Given the description of an element on the screen output the (x, y) to click on. 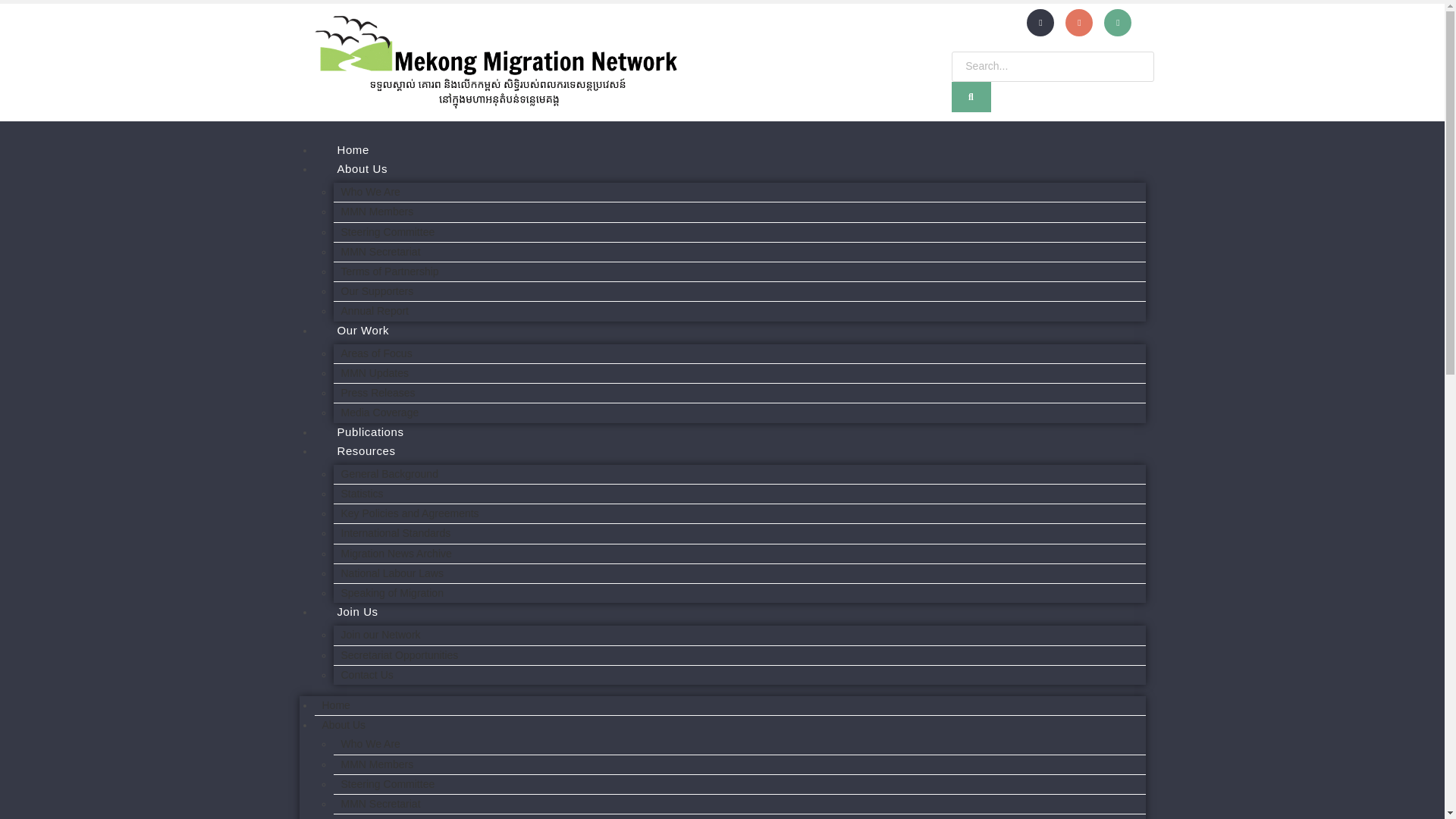
Terms of Partnership (389, 814)
Statistics (362, 492)
Annual Report (374, 310)
Secretariat Opportunities (399, 655)
Areas of Focus (376, 352)
Key Policies and Agreements (409, 513)
Migration News Archive (396, 553)
Steering Committee (387, 231)
Our Work (363, 330)
About Us (362, 168)
